Given the description of an element on the screen output the (x, y) to click on. 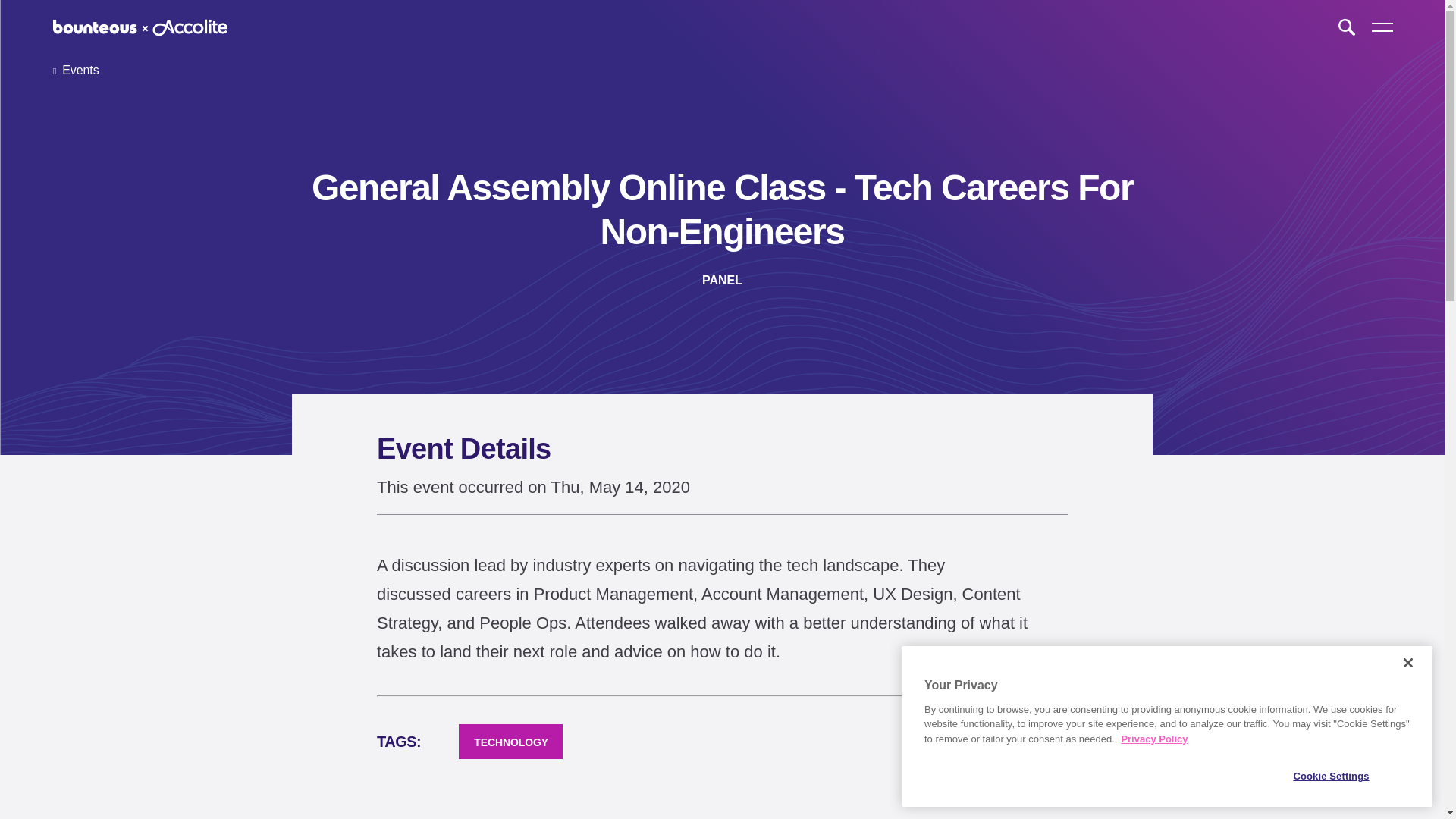
TECHNOLOGY (510, 741)
Events (75, 70)
